Given the description of an element on the screen output the (x, y) to click on. 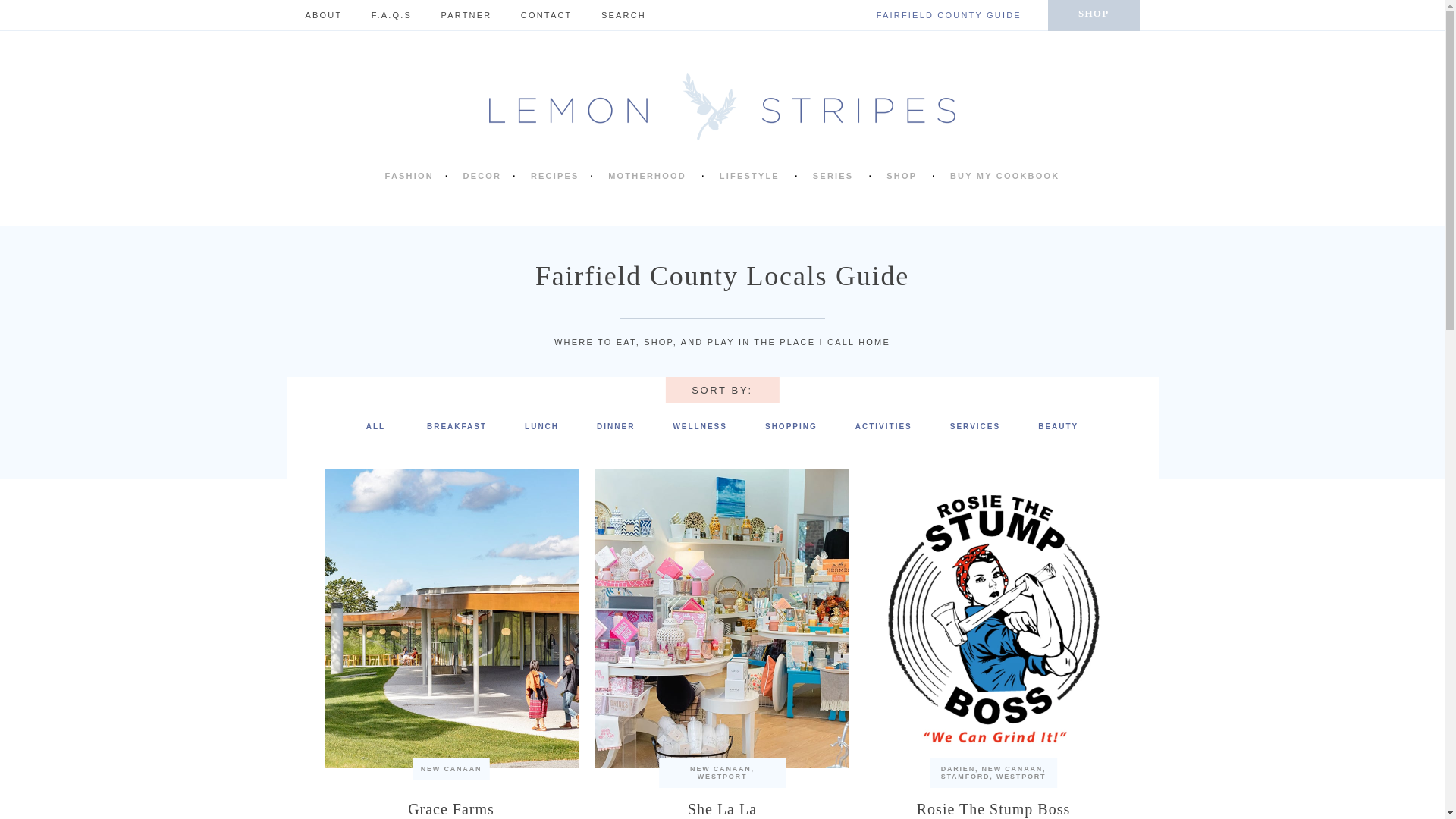
Search (654, 14)
PARTNER (466, 14)
SHOP (1094, 15)
Search (654, 14)
View all posts in Beauty (1058, 426)
FAIRFIELD COUNTY GUIDE (949, 14)
View all posts in Services (975, 426)
View all posts in Wellness (699, 426)
View all posts in Breakfast (456, 426)
View all posts in Dinner (615, 426)
